Given the description of an element on the screen output the (x, y) to click on. 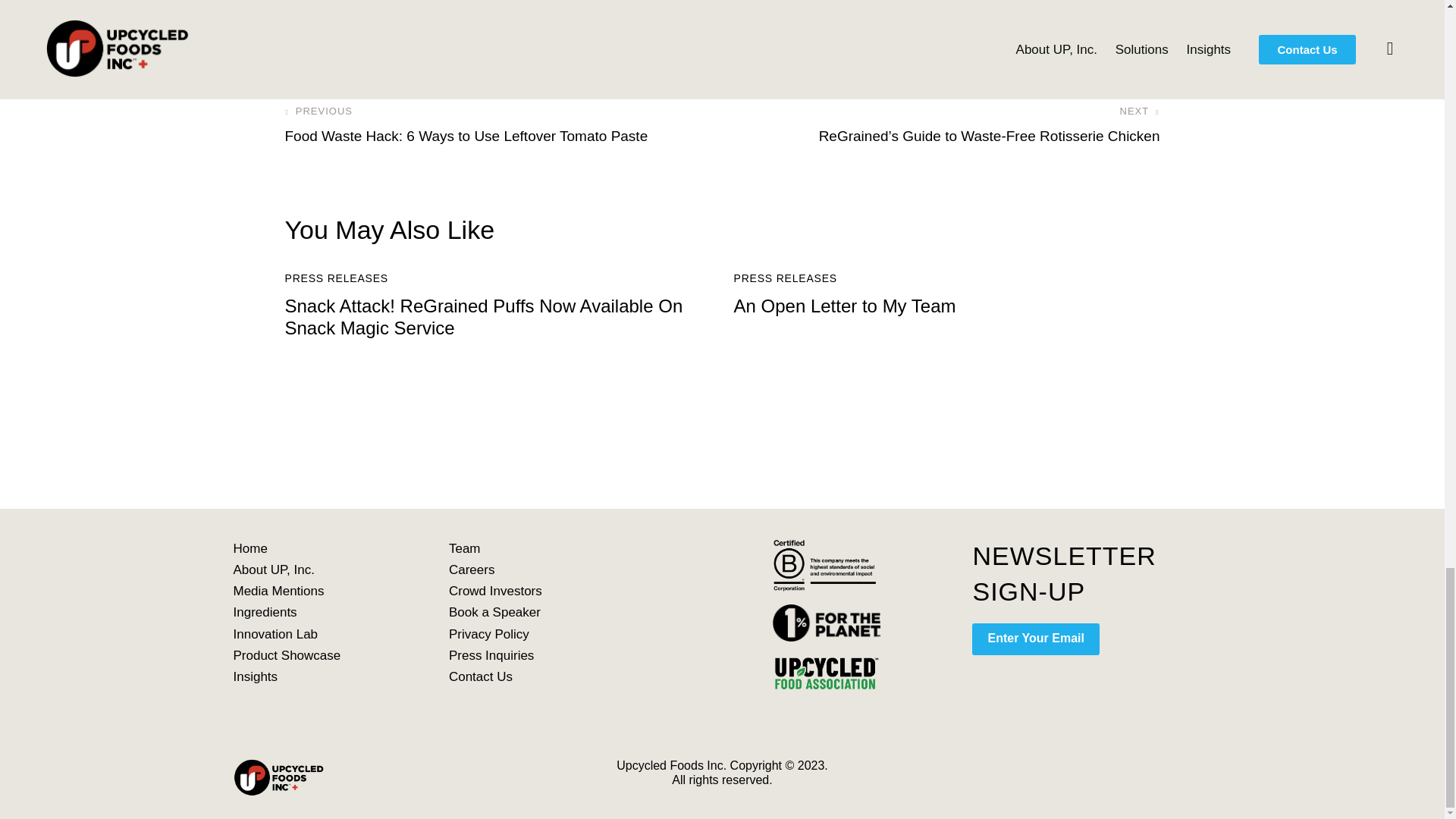
2018-Corp-wTag-Black-L (826, 564)
Copy URL to clipboard (420, 22)
